Given the description of an element on the screen output the (x, y) to click on. 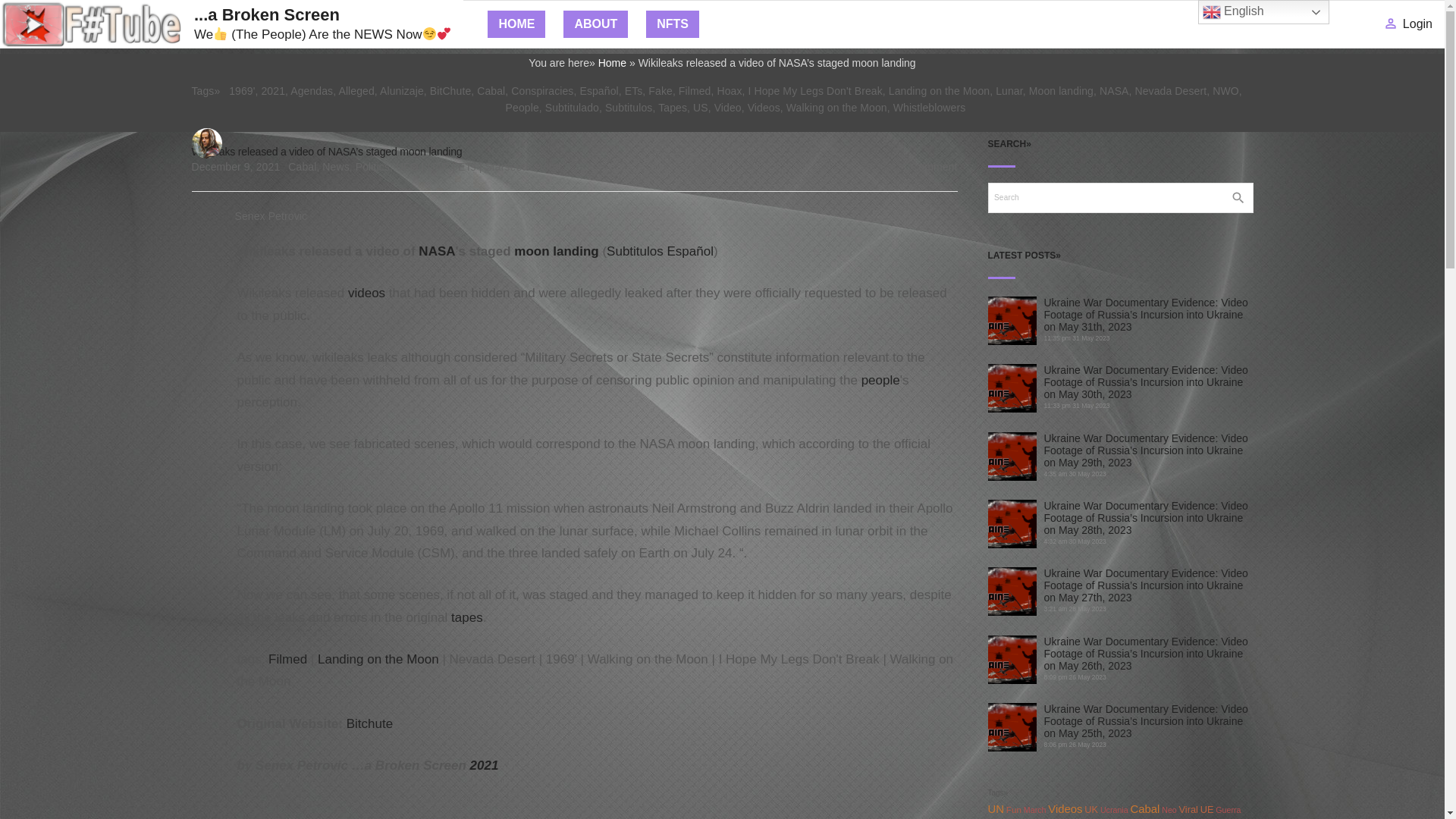
Walking on the Moon (836, 107)
Posts tagged with People (880, 380)
Posts tagged with Videos (366, 292)
Agendas (311, 91)
Moon landing (1061, 91)
Videos (764, 107)
Subtitulado (571, 107)
1969' (241, 91)
Posts tagged with Tapes (467, 617)
Alleged (355, 91)
Cabal (301, 166)
Whistleblowers (929, 107)
Video (727, 107)
NFTS (672, 23)
Posts by Senex Petrovic (270, 215)
